Given the description of an element on the screen output the (x, y) to click on. 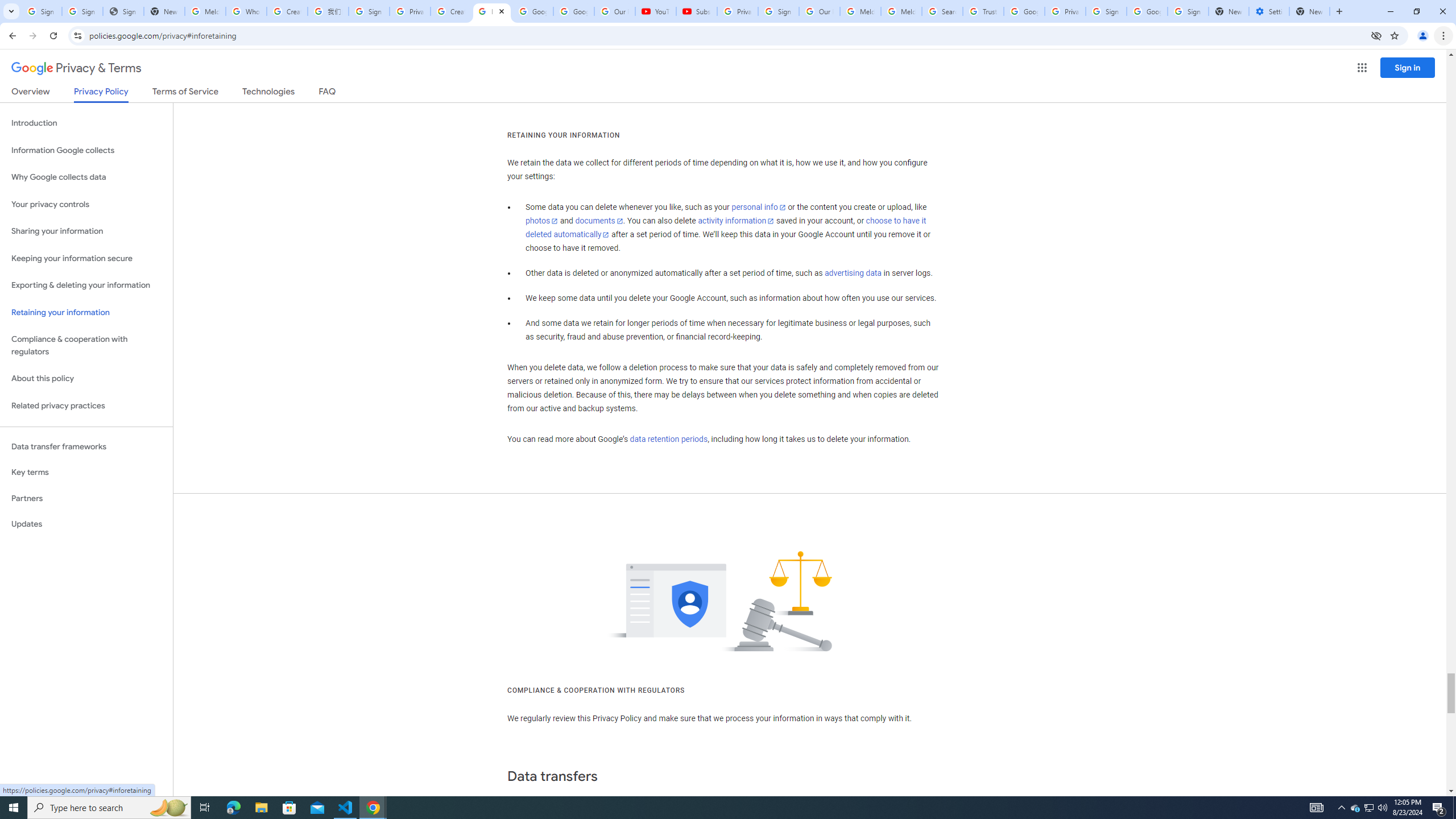
Sign in - Google Accounts (1105, 11)
Introduction (86, 122)
Sharing your information (86, 230)
Sign in - Google Accounts (368, 11)
Keeping your information secure (86, 258)
Search our Doodle Library Collection - Google Doodles (942, 11)
choose to have it deleted automatically (725, 227)
Subscriptions - YouTube (696, 11)
personal info (758, 207)
FAQ (327, 93)
YouTube (655, 11)
